Given the description of an element on the screen output the (x, y) to click on. 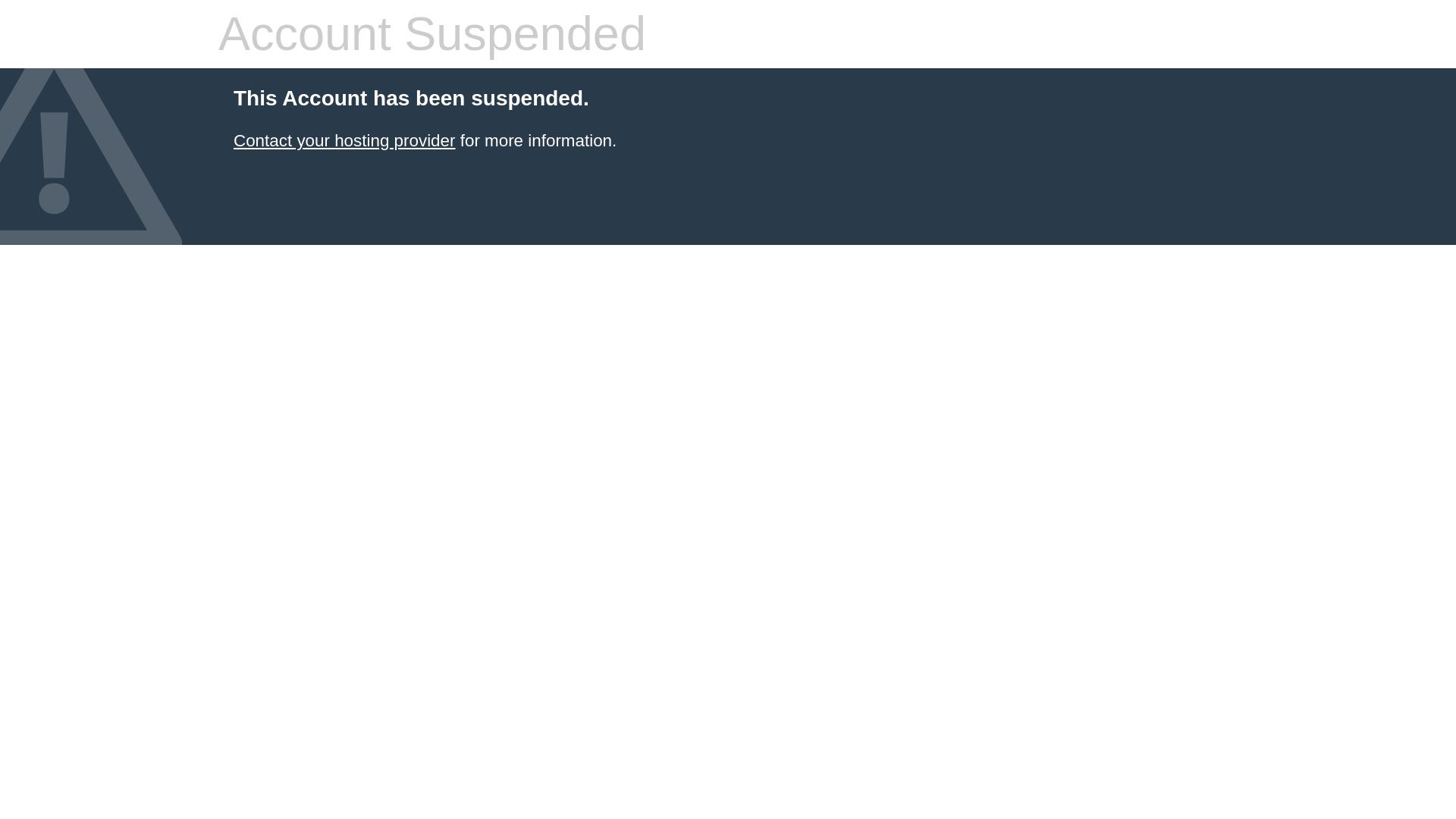
Contact your hosting provider (343, 140)
